Given the description of an element on the screen output the (x, y) to click on. 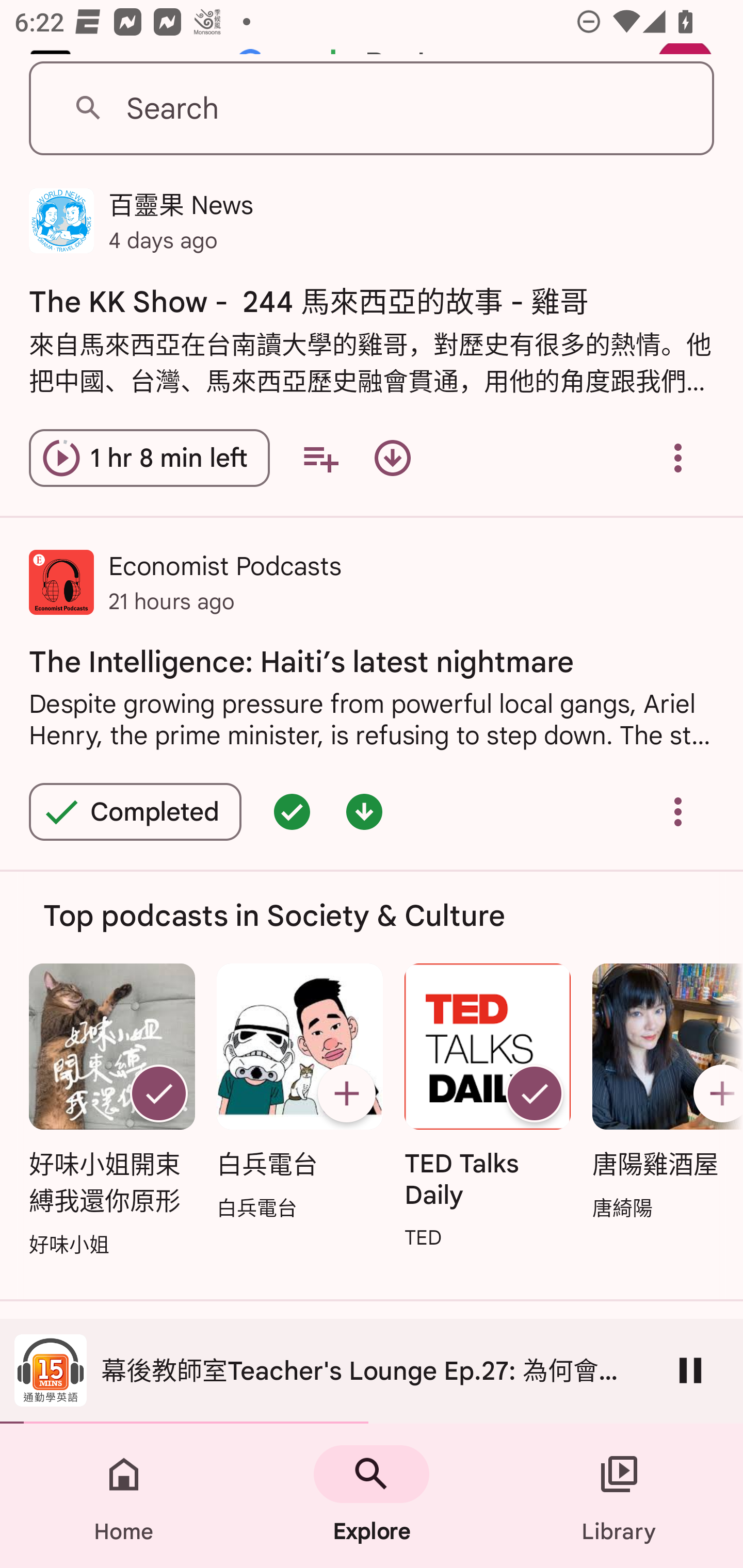
Search (371, 108)
Add to your queue (320, 457)
Download episode (392, 457)
Overflow menu (677, 457)
Episode queued - double tap for options (291, 811)
Episode downloaded - double tap for options (364, 811)
Overflow menu (677, 811)
好味小姐開束縛我還你原形 Unsubscribe 好味小姐開束縛我還你原形 好味小姐 (111, 1111)
白兵電台 Subscribe 白兵電台 白兵電台 (299, 1093)
TED Talks Daily Unsubscribe TED Talks Daily TED (487, 1108)
唐陽雞酒屋 Subscribe 唐陽雞酒屋 唐綺陽 (662, 1093)
Unsubscribe (158, 1092)
Subscribe (346, 1092)
Unsubscribe (534, 1092)
Subscribe (714, 1092)
Pause (690, 1370)
Home (123, 1495)
Library (619, 1495)
